Given the description of an element on the screen output the (x, y) to click on. 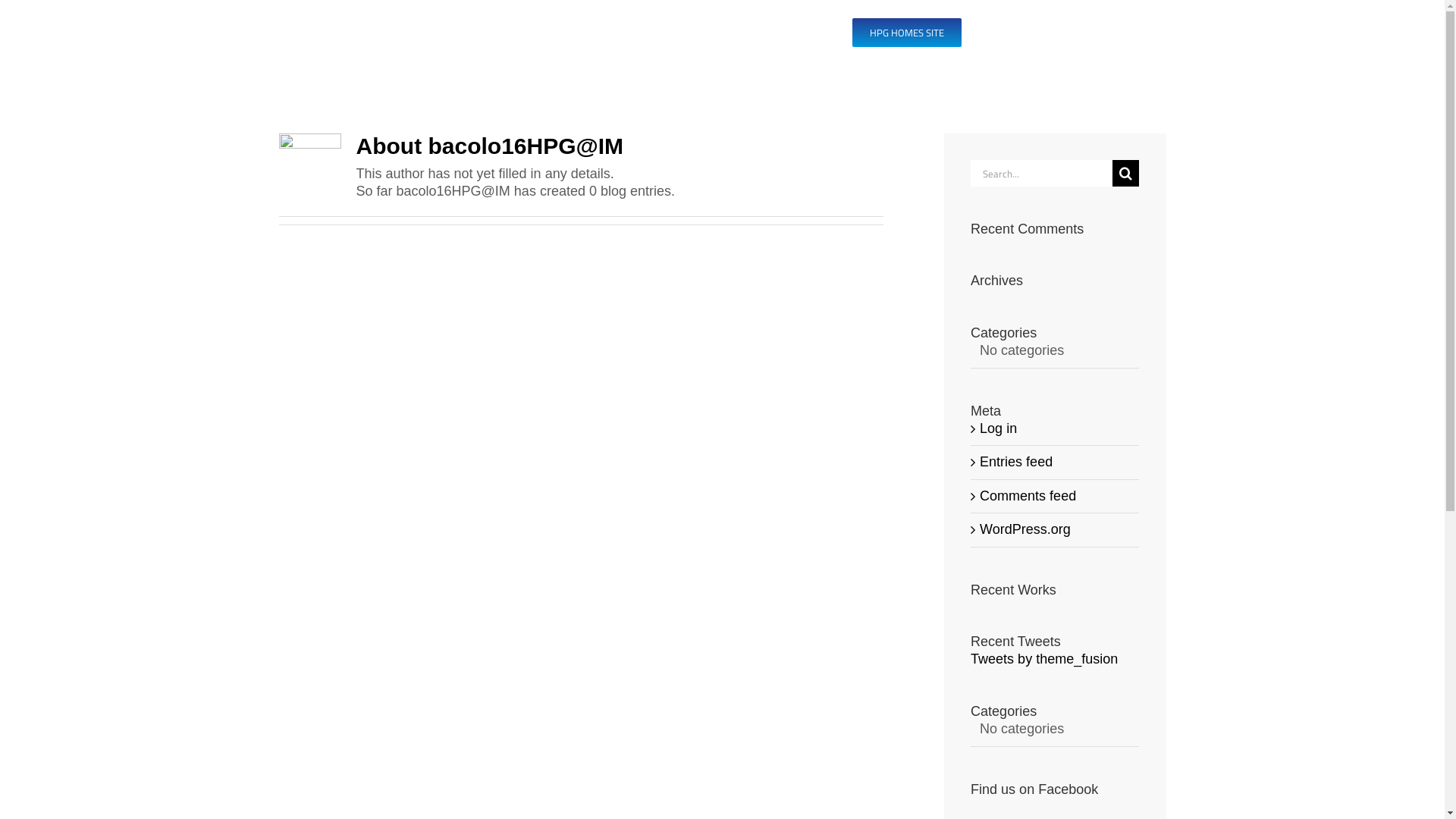
WordPress.org Element type: text (1024, 528)
CAREERS Element type: text (694, 32)
Entries feed Element type: text (1015, 461)
HPG HOMES SITE Element type: text (906, 32)
HOME Element type: text (304, 32)
Log in Element type: text (997, 428)
Comments feed Element type: text (1027, 495)
Tweets by theme_fusion Element type: text (1043, 658)
CONTACT Element type: text (794, 32)
SERVICES Element type: text (465, 32)
OUR PEOPLE Element type: text (581, 32)
ABOUT Element type: text (375, 32)
